Given the description of an element on the screen output the (x, y) to click on. 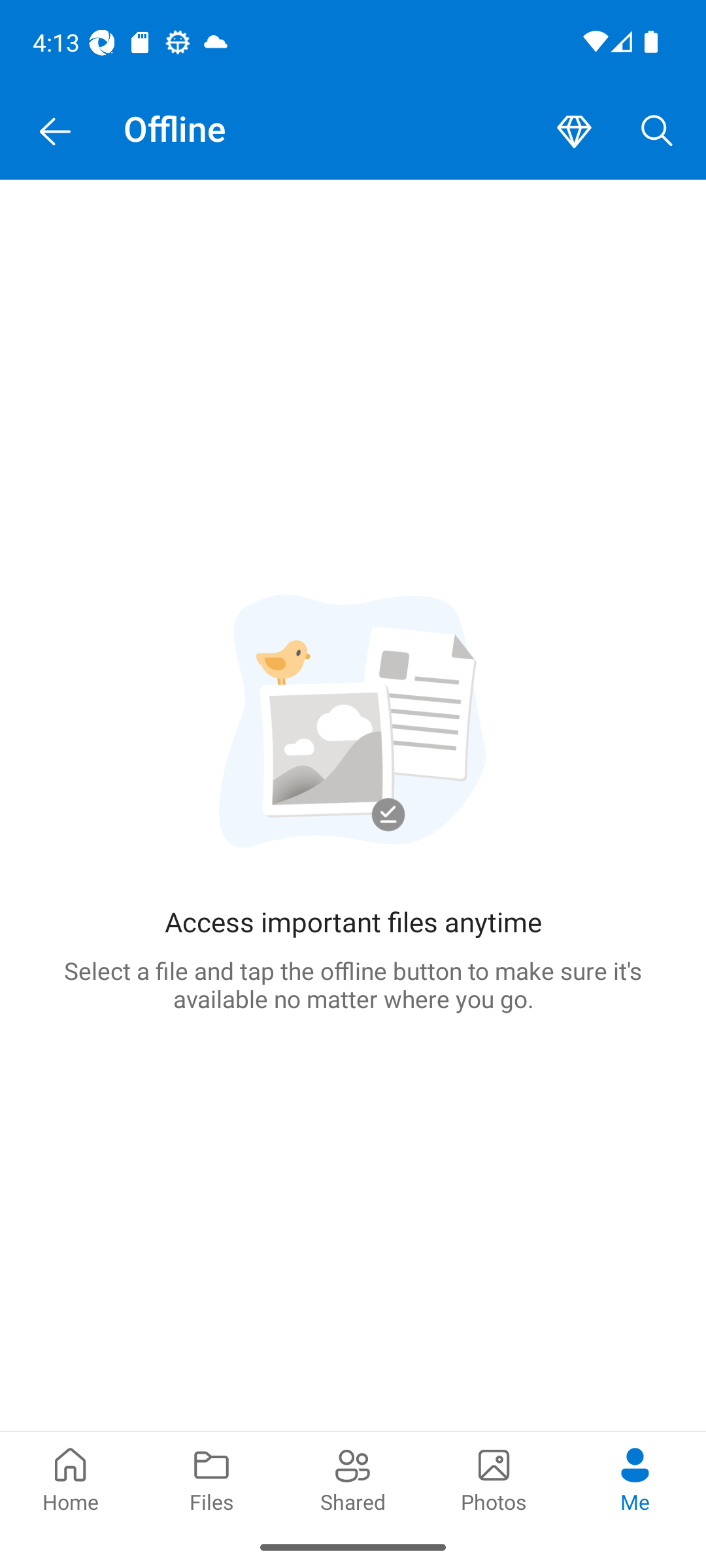
Navigate Up (55, 131)
Premium button (574, 131)
Search button (656, 131)
Home pivot Home (70, 1478)
Files pivot Files (211, 1478)
Shared pivot Shared (352, 1478)
Photos pivot Photos (493, 1478)
